Given the description of an element on the screen output the (x, y) to click on. 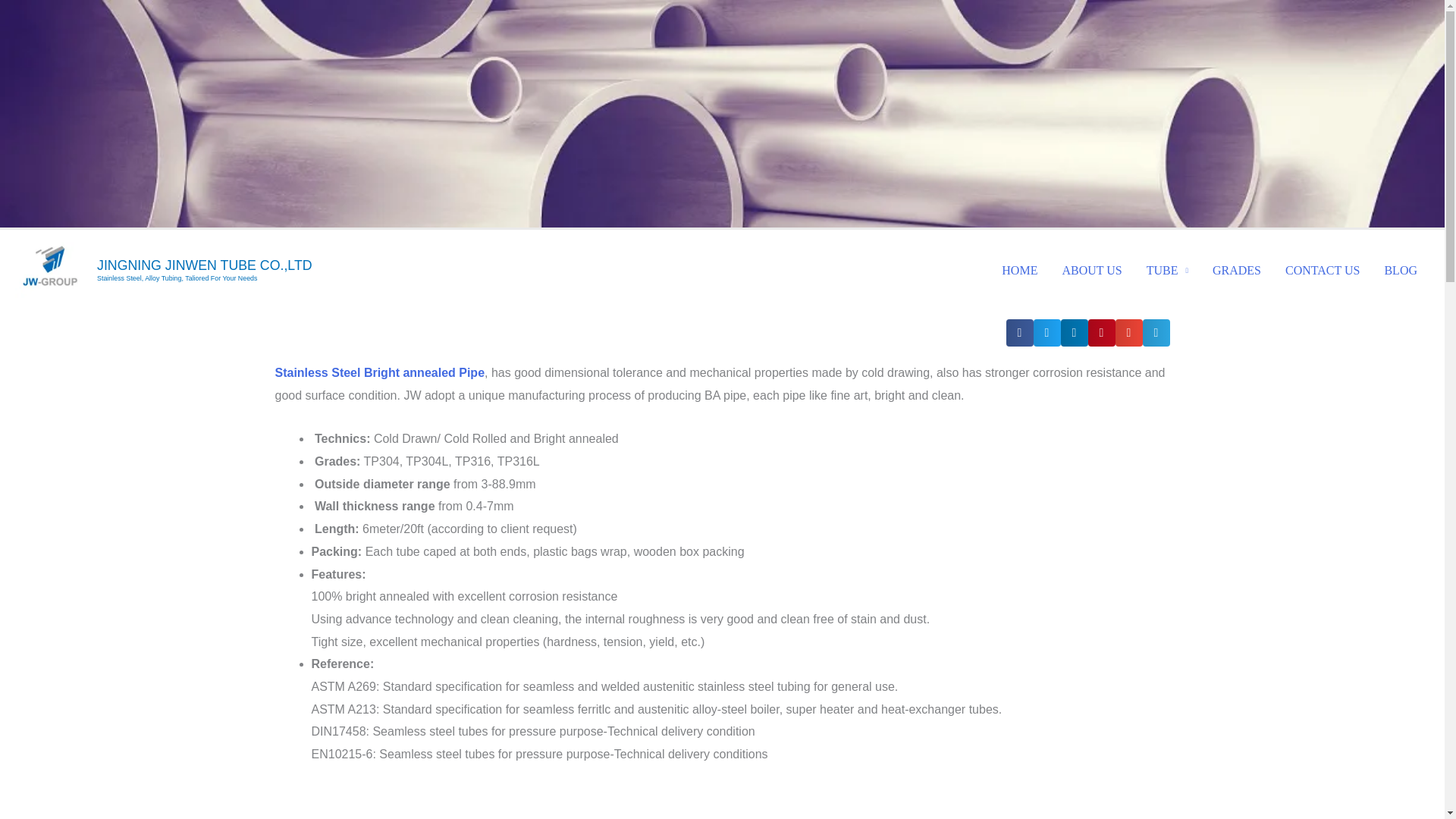
Stainless Steel Bright annealed Pipe (379, 372)
JINGNING JINWEN TUBE CO.,LTD (205, 264)
ABOUT US (1091, 270)
HOME (1019, 270)
GRADES (1235, 270)
TUBE (1166, 270)
BLOG (1400, 270)
CONTACT US (1321, 270)
